Given the description of an element on the screen output the (x, y) to click on. 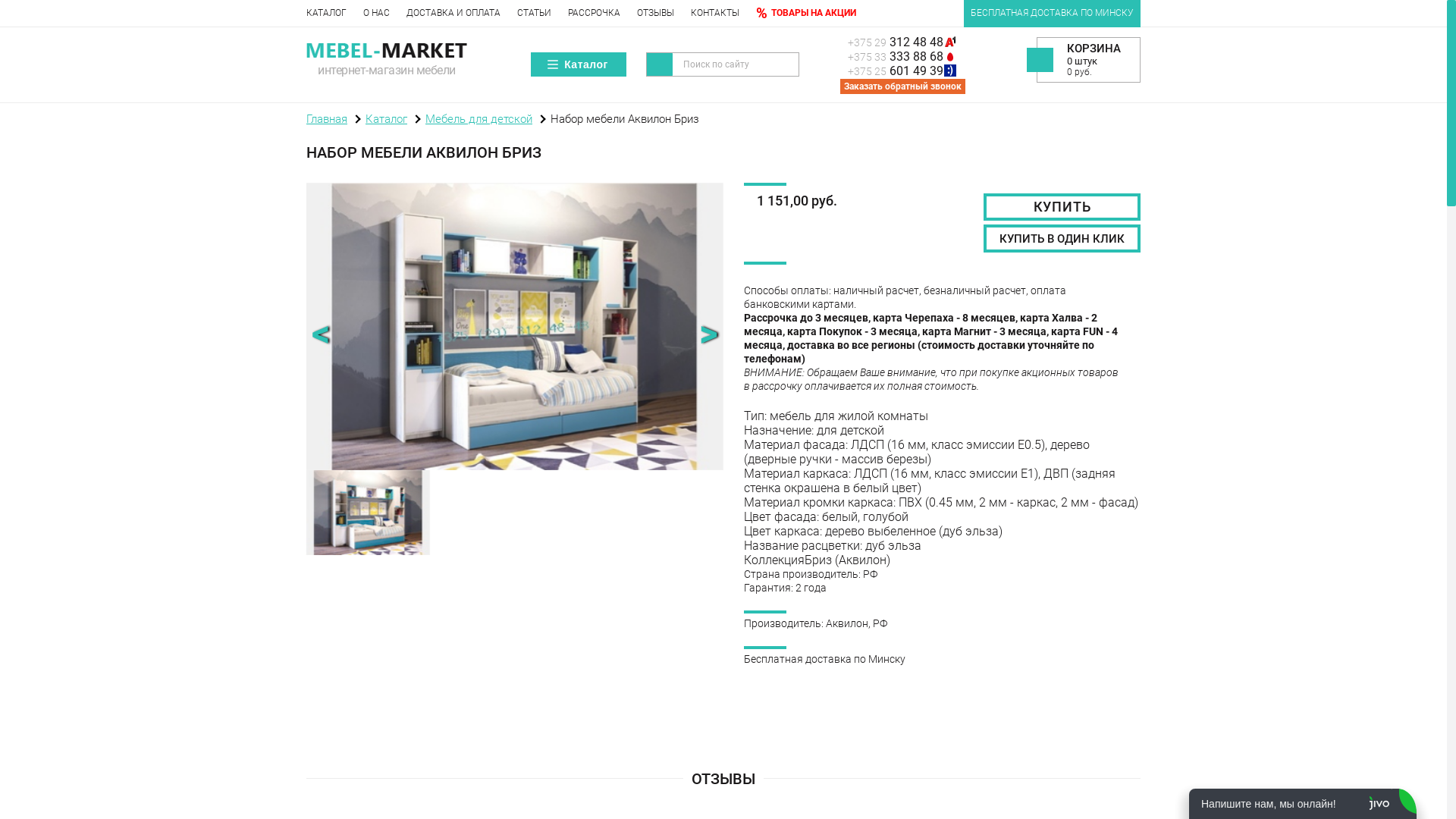
+375 29312 48 48 Element type: text (909, 41)
+375 25601 49 39 Element type: text (909, 70)
+375 33333 88 68 Element type: text (909, 56)
